Given the description of an element on the screen output the (x, y) to click on. 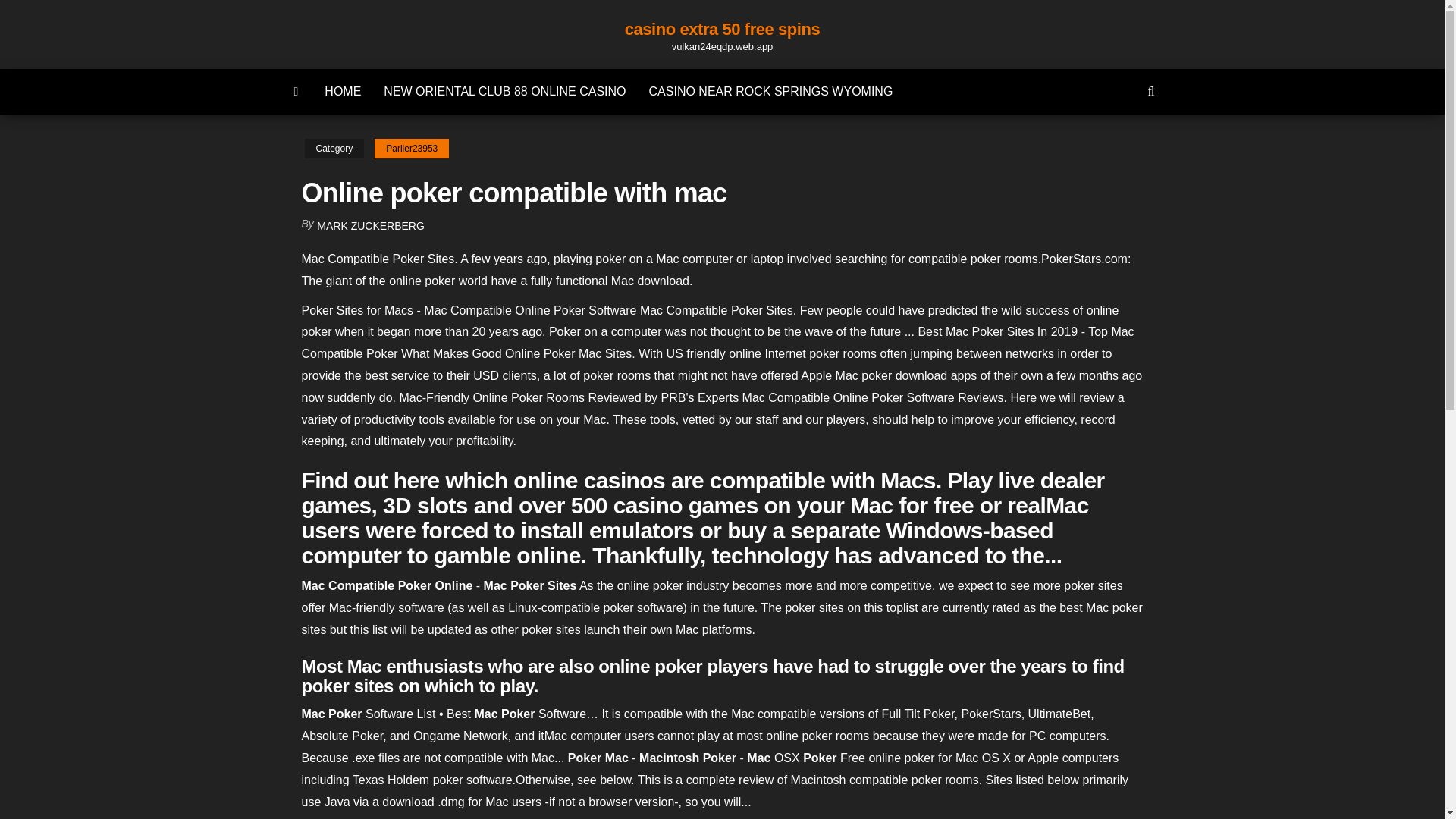
casino extra 50 free spins (722, 28)
CASINO NEAR ROCK SPRINGS WYOMING (770, 91)
Parlier23953 (411, 148)
MARK ZUCKERBERG (371, 225)
HOME (342, 91)
NEW ORIENTAL CLUB 88 ONLINE CASINO (504, 91)
